Given the description of an element on the screen output the (x, y) to click on. 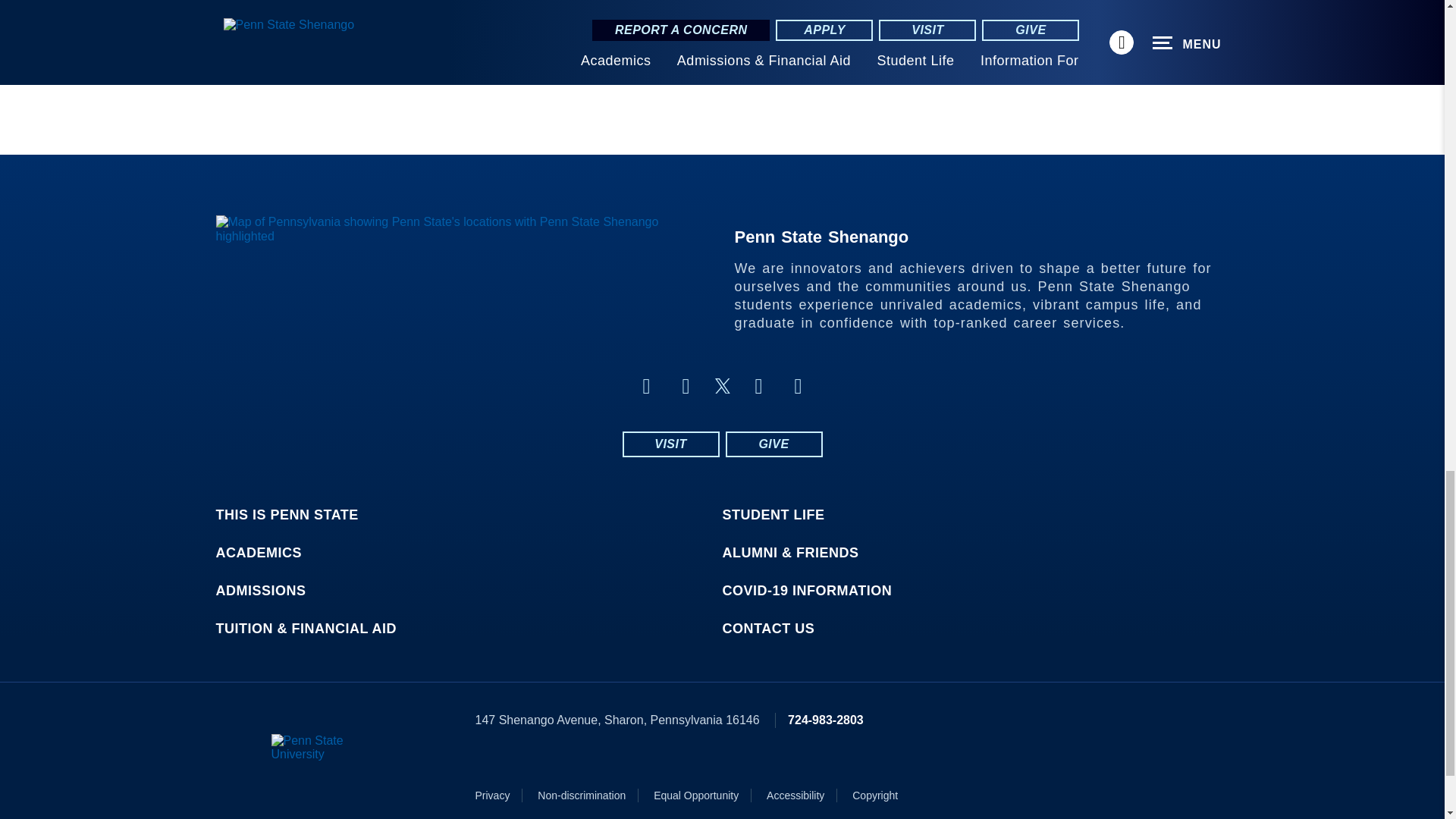
linkedin (758, 386)
Penn State University (333, 747)
youtube (797, 386)
facebook (645, 386)
instagram (685, 386)
